Given the description of an element on the screen output the (x, y) to click on. 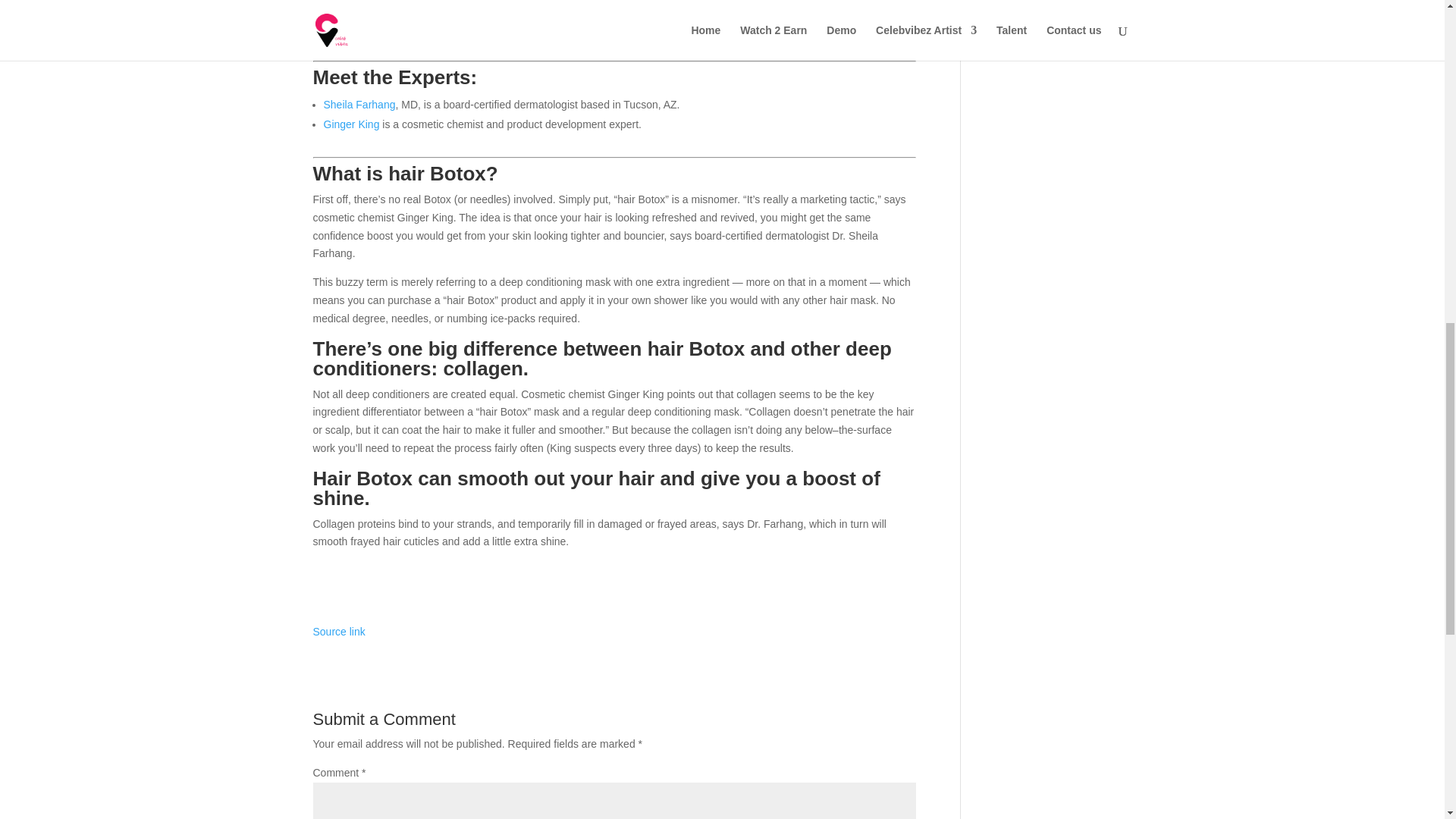
Ginger King (350, 123)
Source link (339, 631)
Sheila Farhang (358, 104)
